Given the description of an element on the screen output the (x, y) to click on. 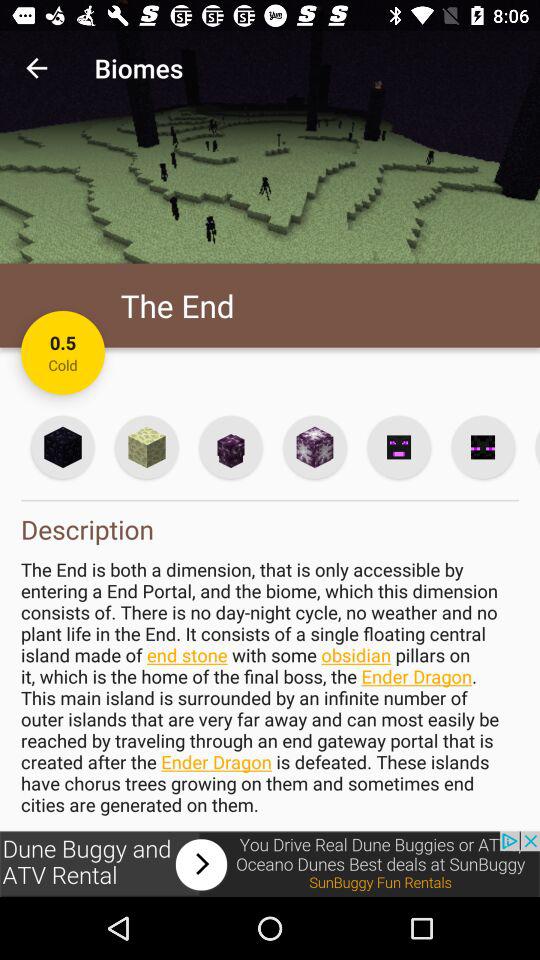
select block (314, 446)
